Given the description of an element on the screen output the (x, y) to click on. 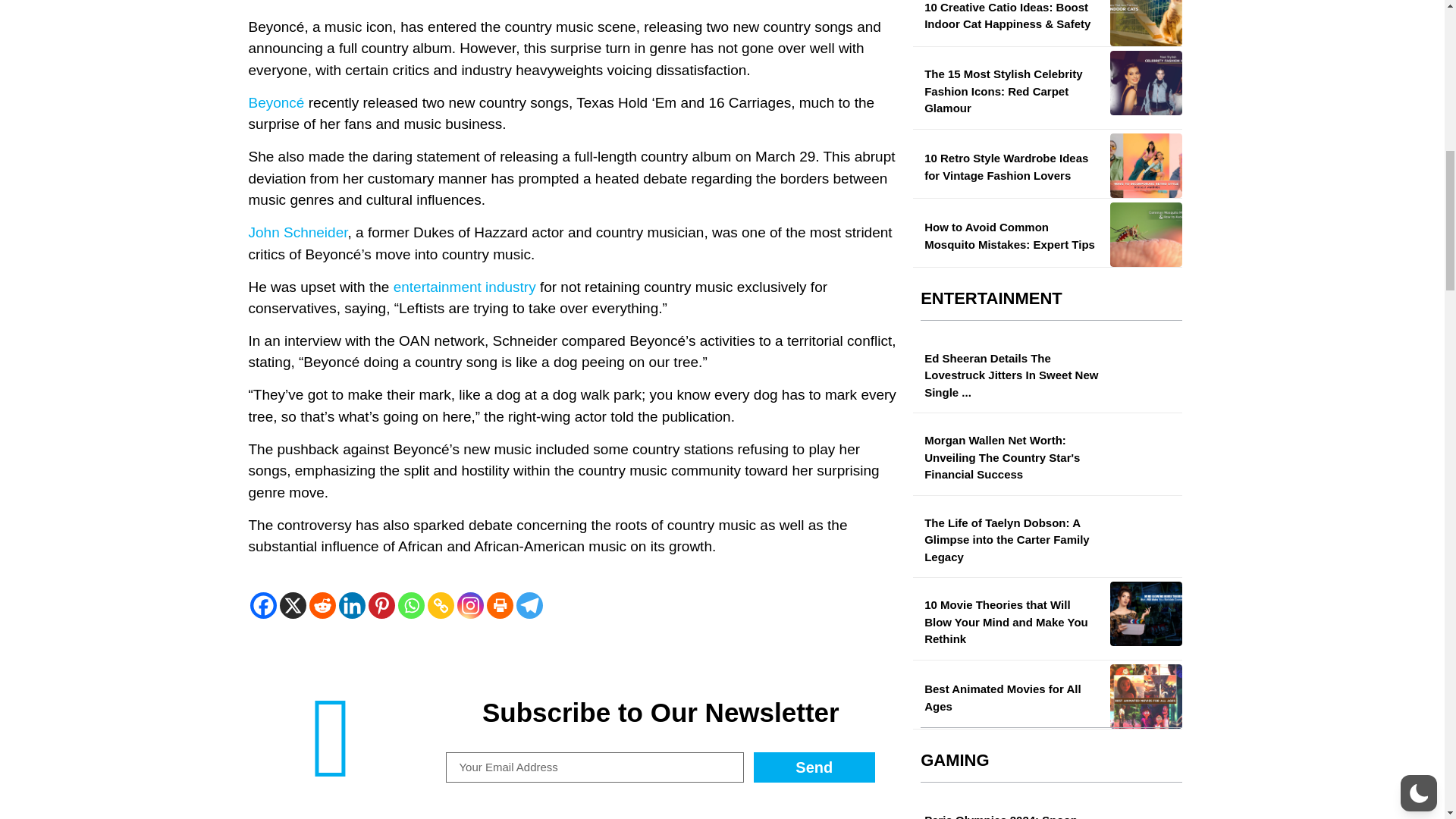
Facebook (263, 605)
X (292, 605)
Reddit (322, 605)
Linkedin (351, 605)
Whatsapp (410, 605)
Instagram (470, 605)
Pinterest (381, 605)
Copy Link (441, 605)
